Given the description of an element on the screen output the (x, y) to click on. 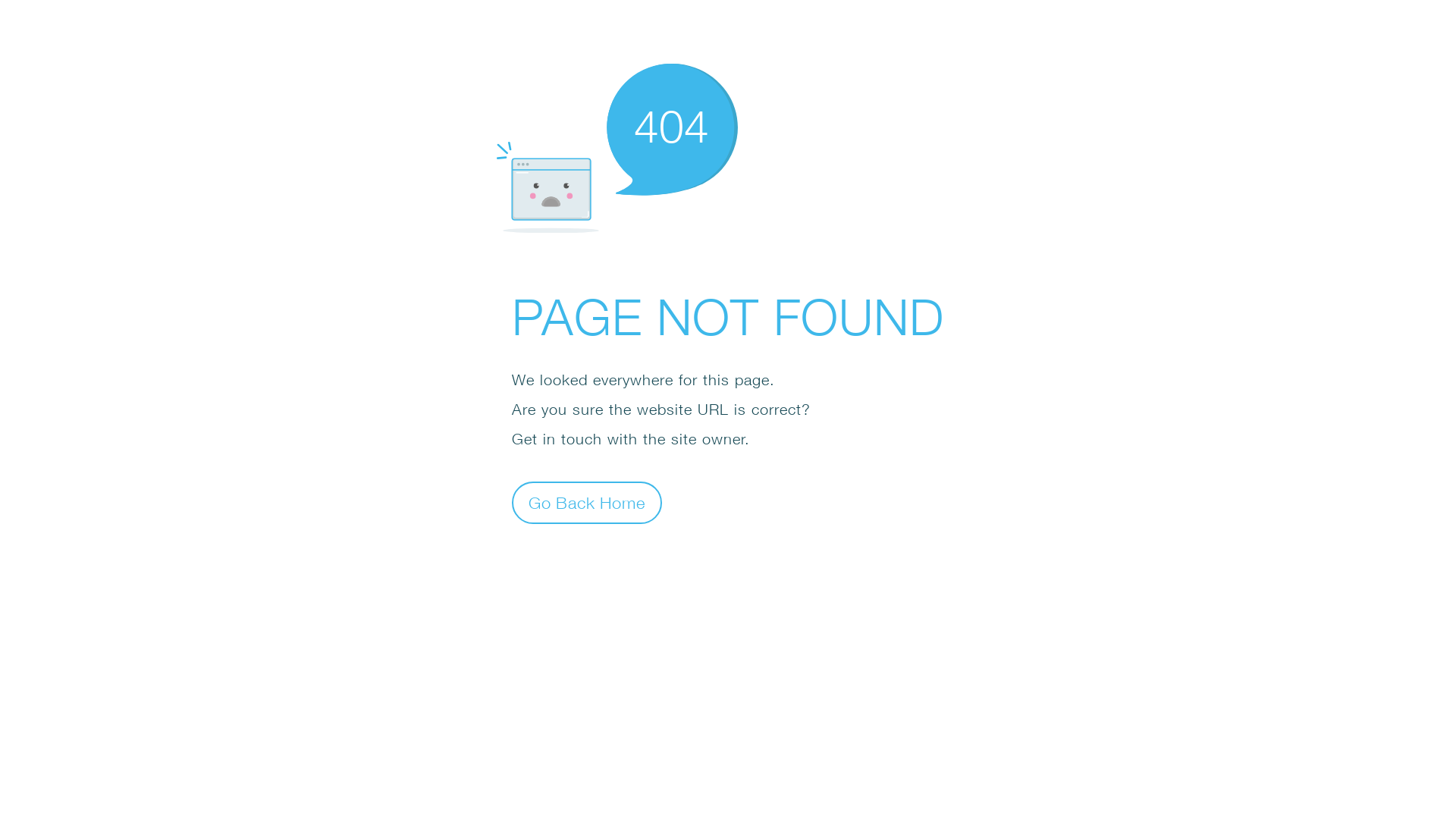
Go Back Home Element type: text (586, 502)
